Given the description of an element on the screen output the (x, y) to click on. 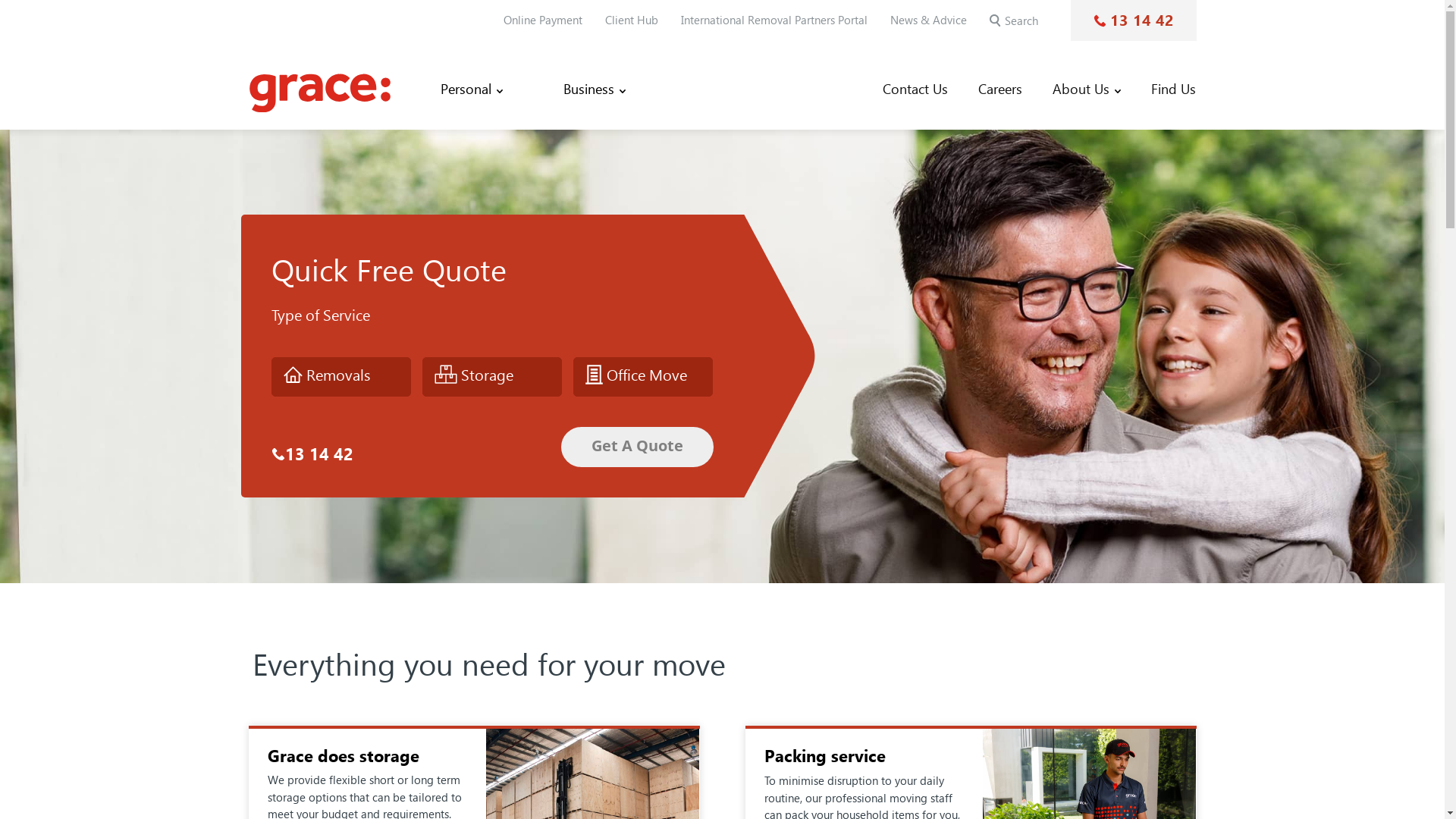
Get A Quote Element type: text (637, 446)
Packing service Element type: text (824, 755)
Contact Us Element type: text (914, 88)
Careers Element type: text (1000, 88)
Client Hub Element type: text (631, 19)
Grace does storage Element type: text (342, 755)
13 14 42 Element type: text (312, 454)
Search Element type: text (994, 21)
Find Us Element type: text (1173, 88)
International Removal Partners Portal Element type: text (773, 19)
News & Advice Element type: text (928, 19)
About Us Element type: text (1086, 88)
13 14 42 Element type: text (1133, 20)
Online Payment Element type: text (542, 19)
